Given the description of an element on the screen output the (x, y) to click on. 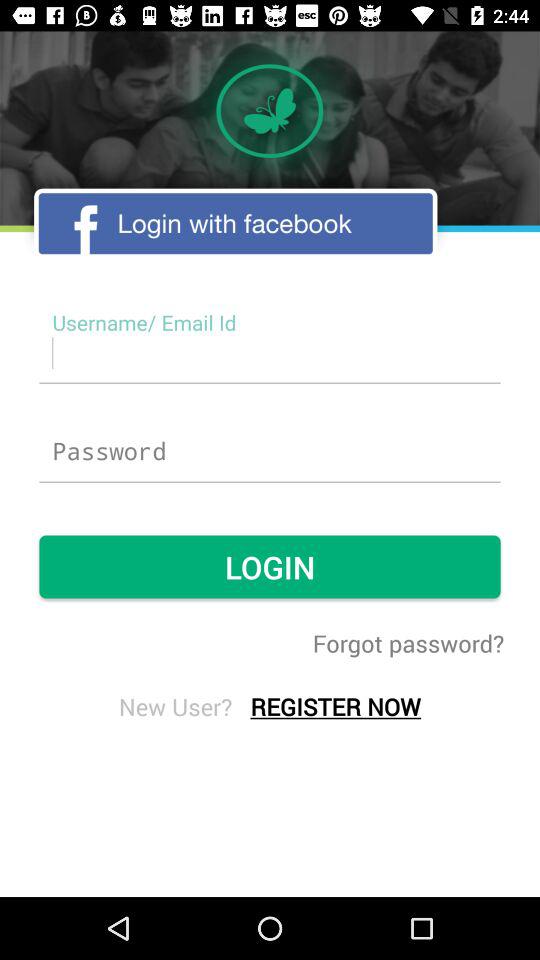
text box (269, 352)
